Given the description of an element on the screen output the (x, y) to click on. 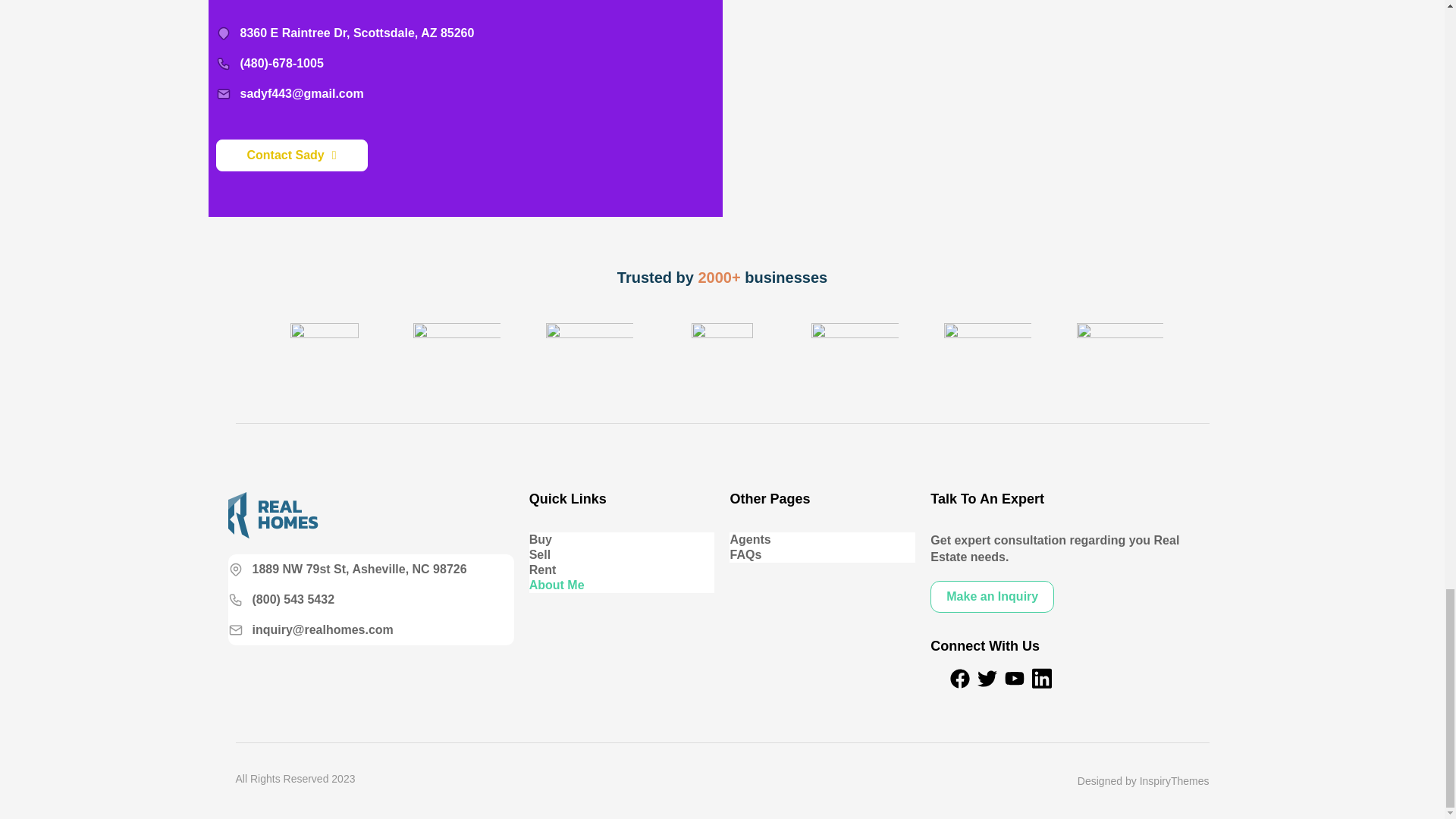
Make an Inquiry (992, 596)
About Me (621, 585)
1889 NW 79st St, Asheville, NC 98726 (346, 569)
Rent (621, 570)
Sell (621, 554)
Agents (822, 539)
Contact Sady (290, 155)
Buy (621, 539)
8360 E Raintree Dr, Scottsdale, AZ 85260 (344, 32)
InspiryThemes (1174, 780)
